Given the description of an element on the screen output the (x, y) to click on. 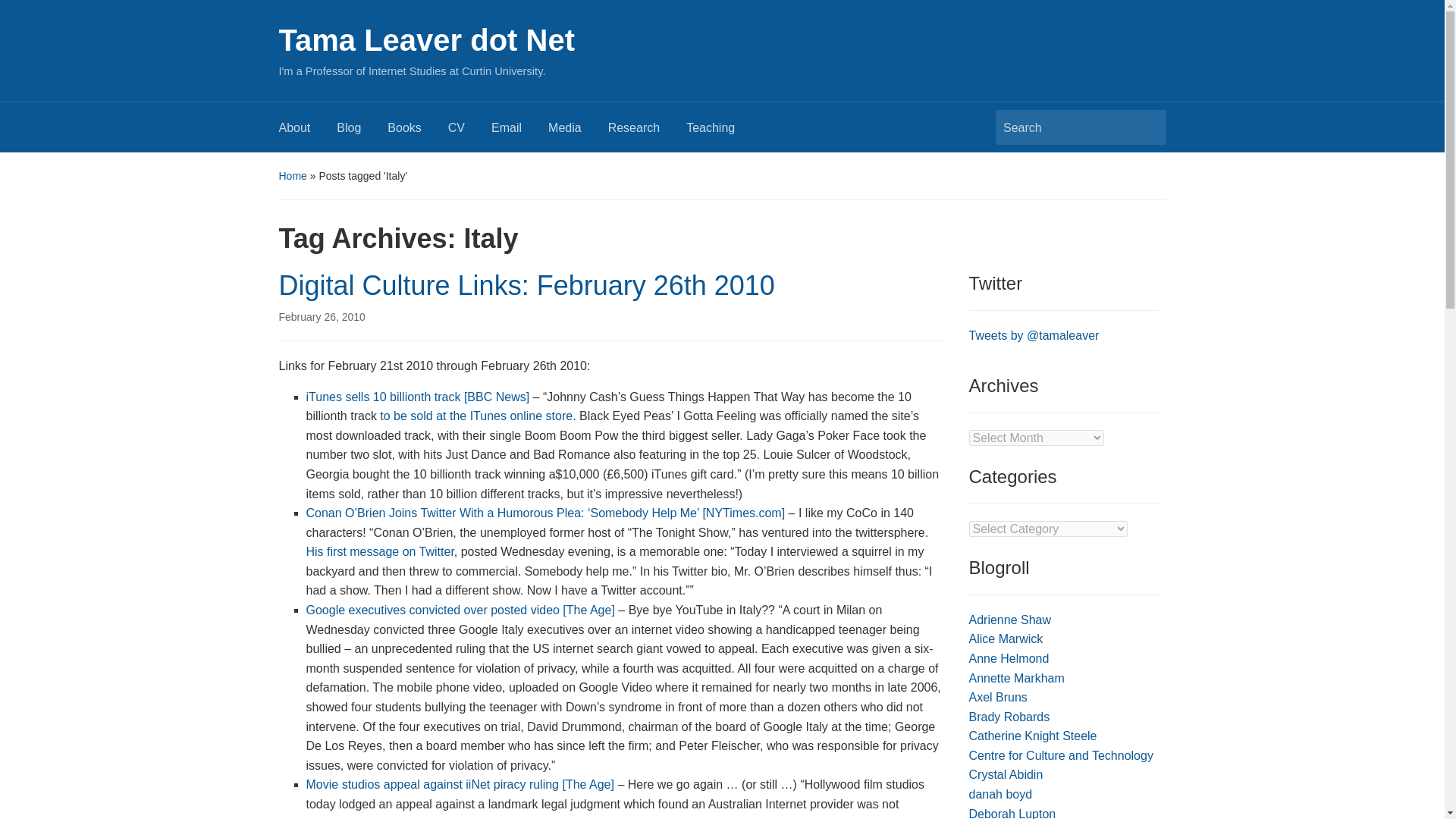
Email (520, 131)
apophenia (1000, 793)
Media (578, 131)
Tama Leaver dot Net (427, 39)
CV (470, 131)
Books (416, 131)
About (308, 131)
Blog (361, 131)
Research (646, 131)
Permanent Link to Digital Culture Links: February 26th 2010 (322, 316)
